Given the description of an element on the screen output the (x, y) to click on. 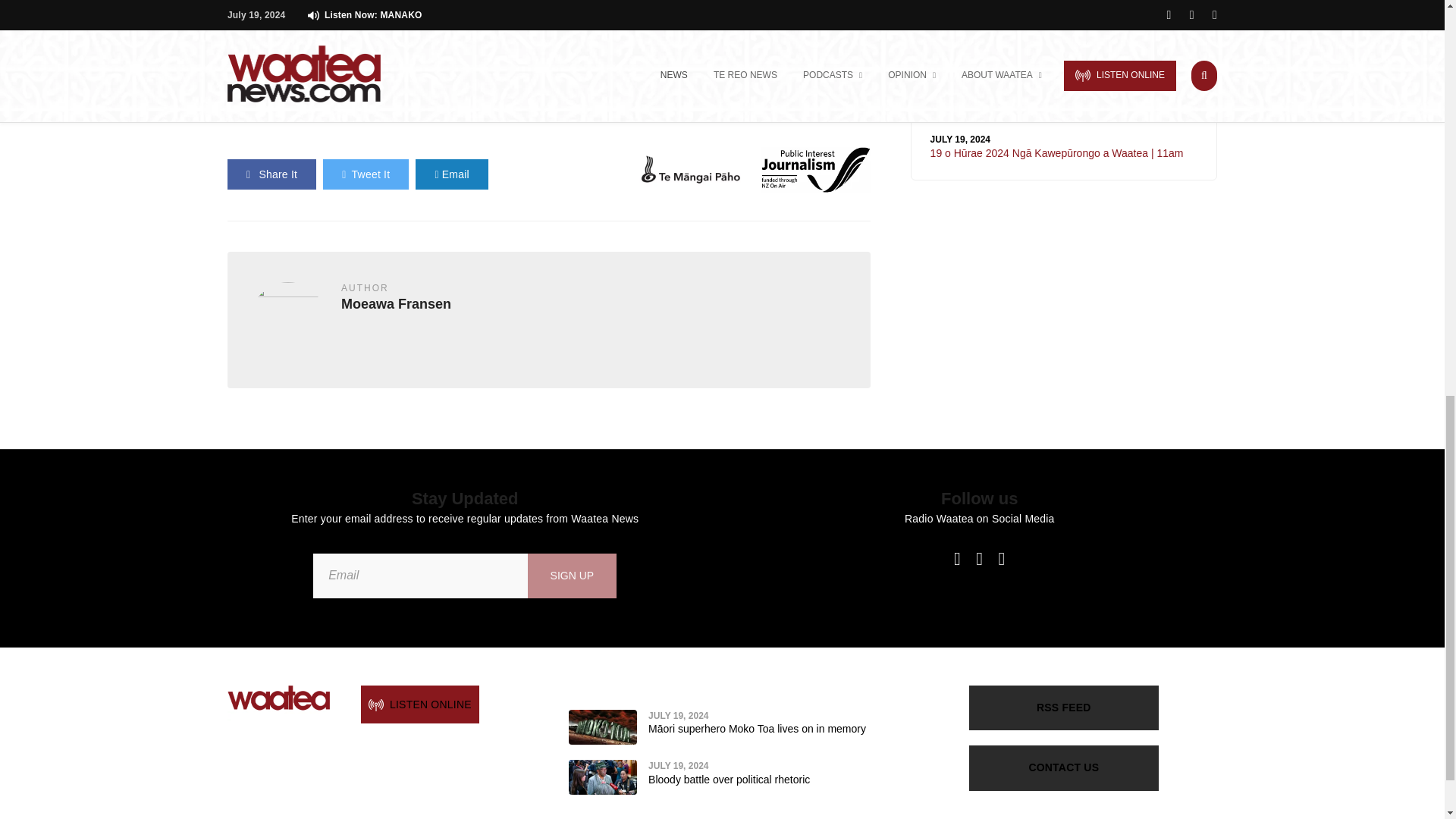
Share by Email (450, 173)
Facebook (956, 558)
Twitter (978, 558)
Instagram (1000, 558)
Share On Twitter (366, 173)
Share On Facebook (271, 173)
